Given the description of an element on the screen output the (x, y) to click on. 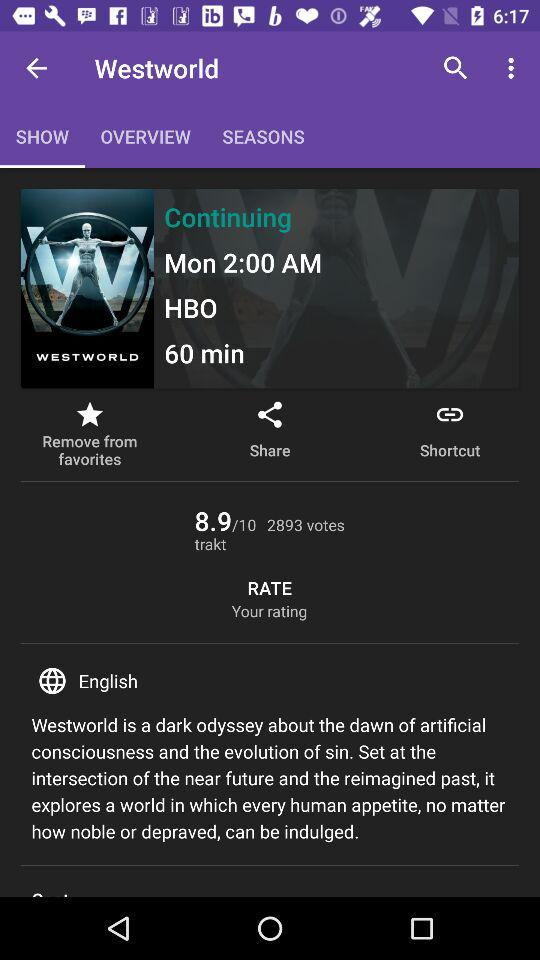
choose the item to the left of shortcut (270, 434)
